Given the description of an element on the screen output the (x, y) to click on. 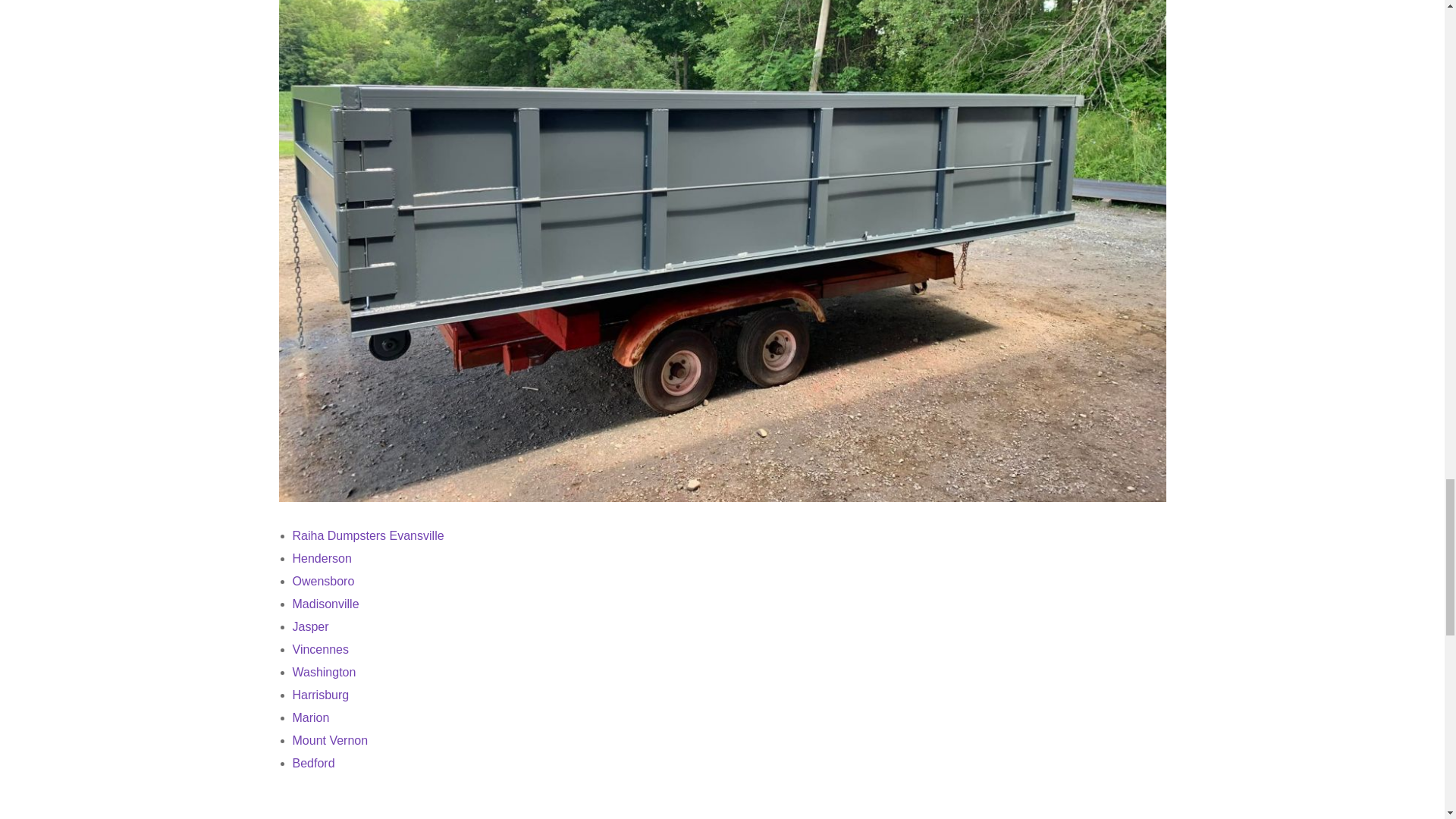
Henderson (322, 558)
Mount Vernon (330, 739)
Marion (311, 717)
Owensboro (323, 581)
Raiha Dumpsters Evansville (368, 535)
Vincennes (320, 649)
Madisonville (325, 603)
Bedford (313, 762)
Harrisburg (320, 694)
Washington (324, 671)
Jasper (310, 626)
